Given the description of an element on the screen output the (x, y) to click on. 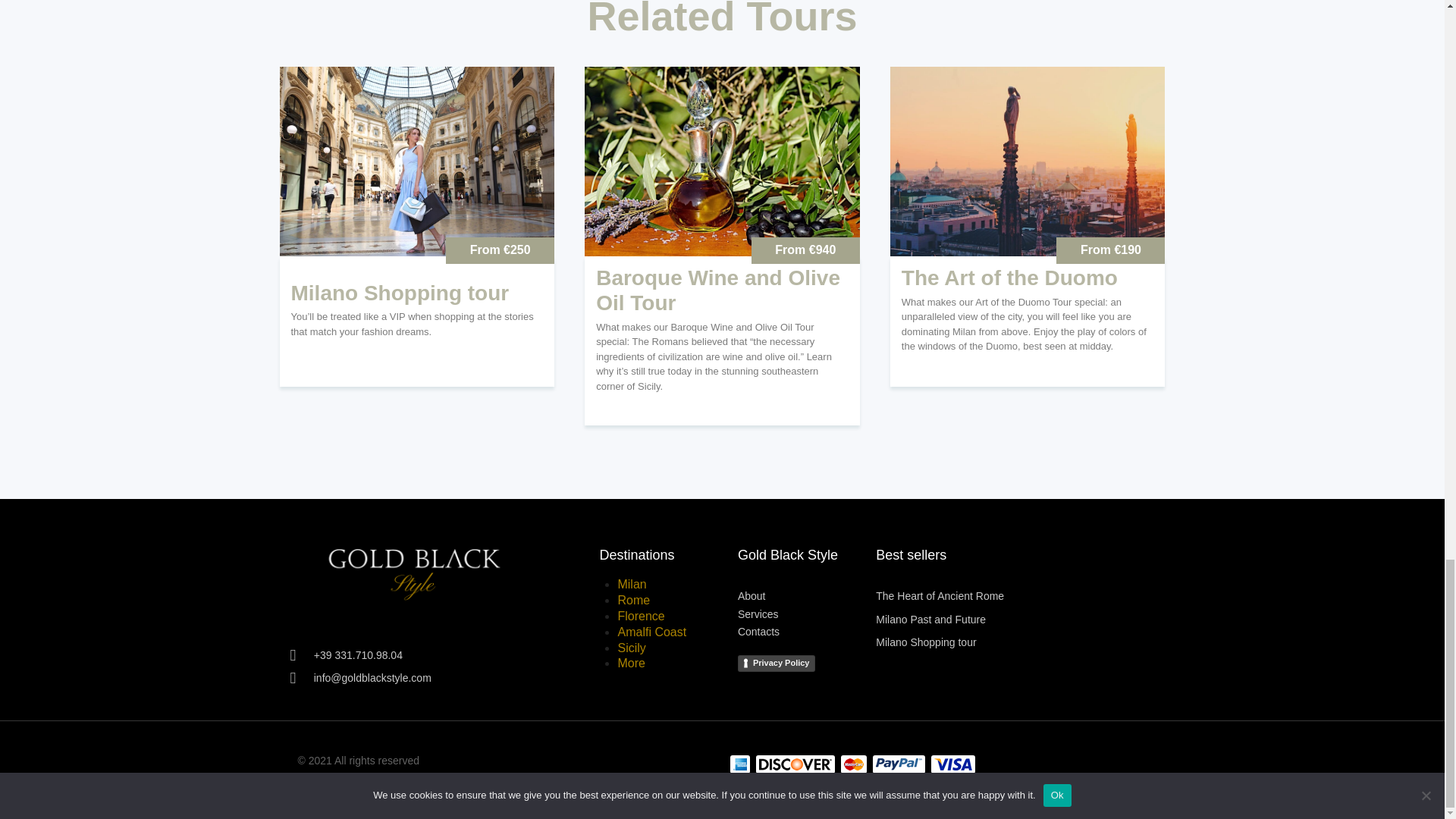
Sicily (631, 647)
Milano Shopping tour (400, 293)
Milano Shopping tour (925, 642)
The Heart of Ancient Rome (940, 595)
More (631, 662)
Rome (633, 599)
Baroque Wine and Olive Oil Tour (721, 290)
Privacy Policy (776, 663)
Services (807, 612)
Florence (640, 615)
